Given the description of an element on the screen output the (x, y) to click on. 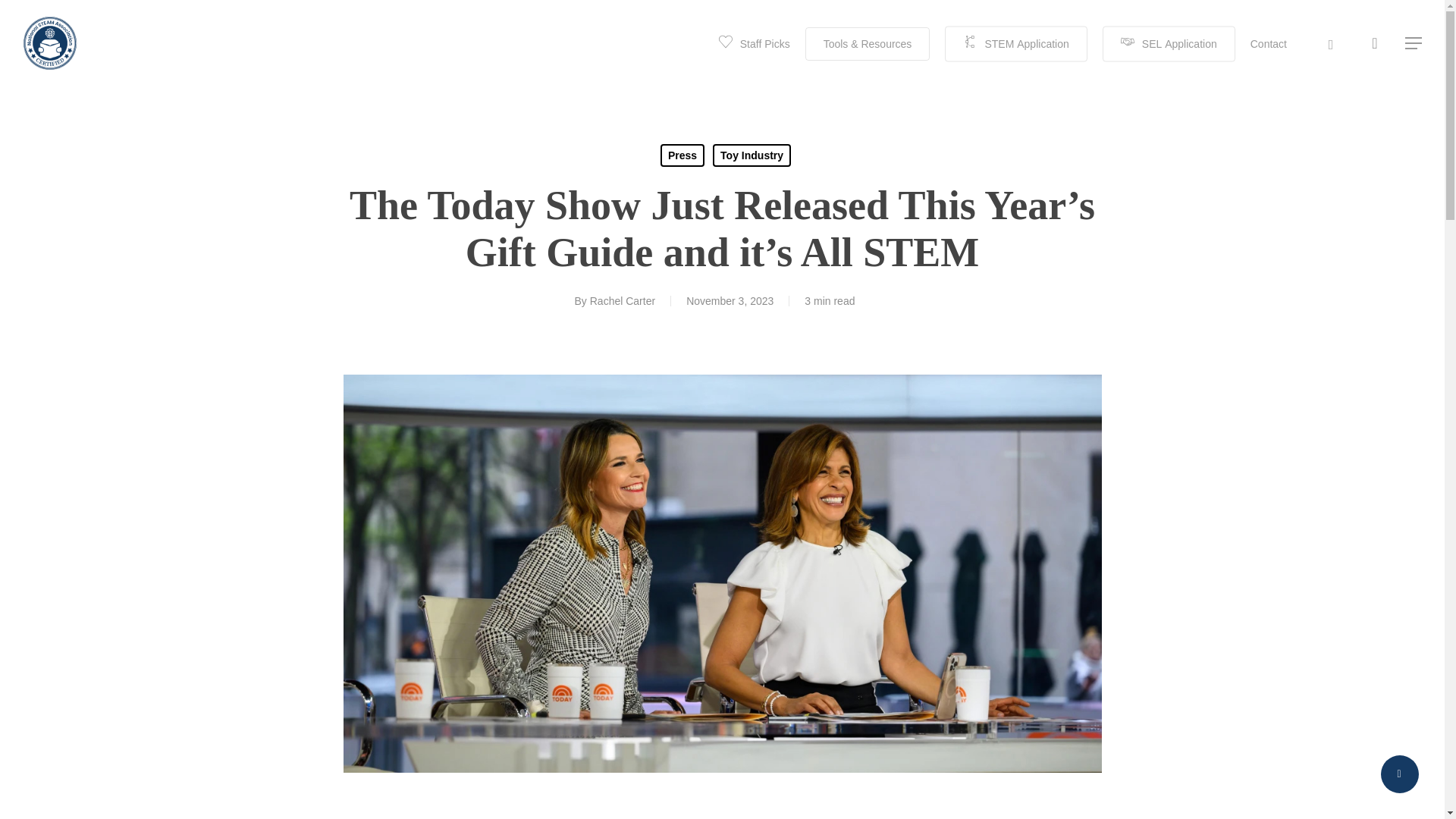
Rachel Carter (622, 300)
Press (682, 155)
Menu (1414, 43)
STEM Application (1015, 43)
APPLY ONLINE (1041, 444)
SEL Application (1168, 43)
Contact (1268, 43)
search (1374, 43)
Toy Industry (751, 155)
Staff Picks (754, 43)
